Given the description of an element on the screen output the (x, y) to click on. 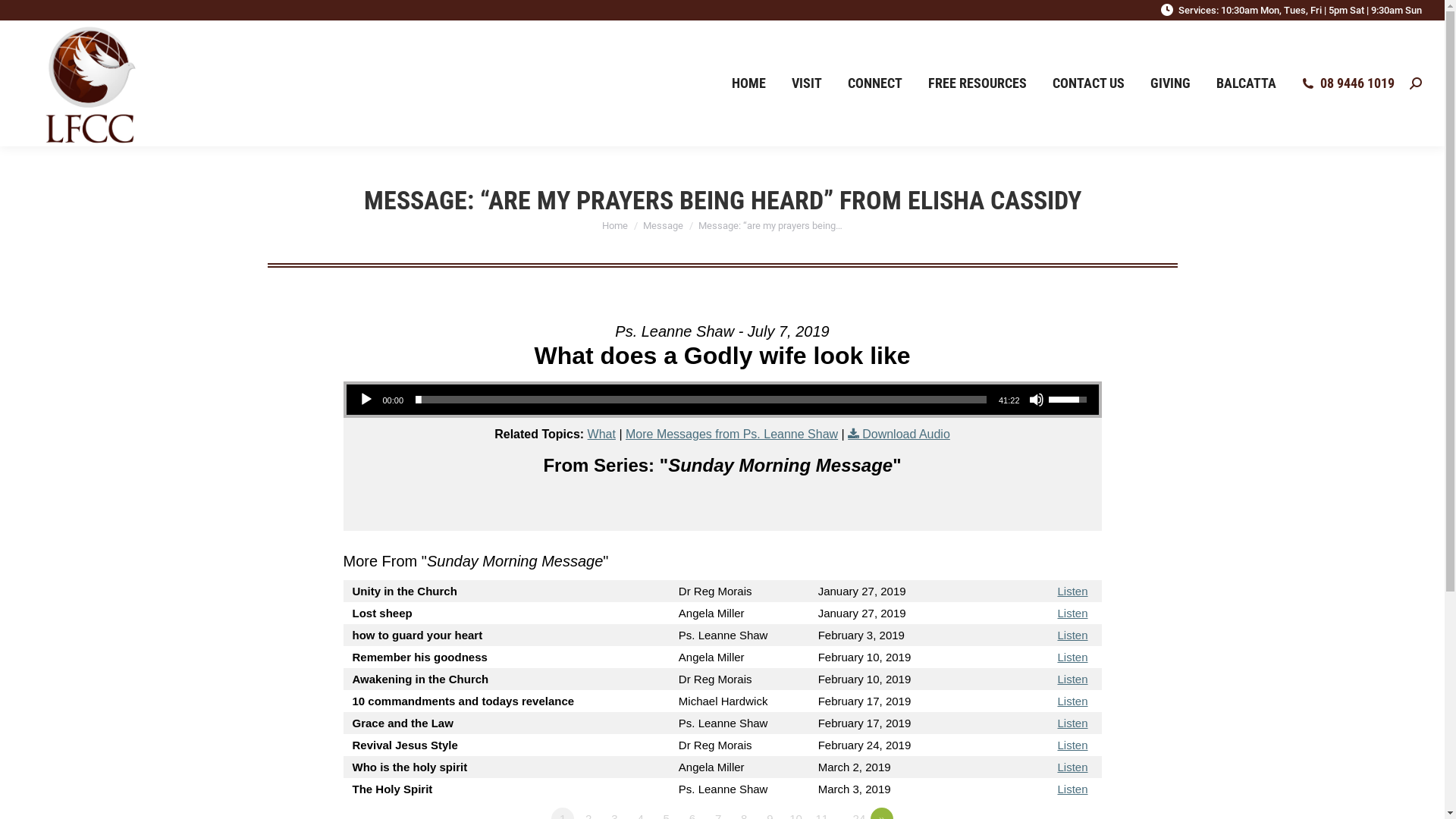
Listen Element type: text (1072, 634)
Listen Element type: text (1072, 744)
Listen Element type: text (1072, 656)
Listen Element type: text (1072, 700)
CONTACT US Element type: text (1088, 83)
Go! Element type: text (22, 17)
Play Element type: hover (365, 399)
Listen Element type: text (1072, 678)
Listen Element type: text (1072, 722)
Home Element type: text (614, 225)
Mute Element type: hover (1035, 399)
Listen Element type: text (1072, 788)
Message Element type: text (663, 225)
FREE RESOURCES Element type: text (977, 83)
Listen Element type: text (1072, 612)
Listen Element type: text (1072, 766)
CONNECT Element type: text (874, 83)
HOME Element type: text (748, 83)
Download Audio Element type: text (898, 433)
GIVING Element type: text (1170, 83)
Use Up/Down Arrow keys to increase or decrease volume. Element type: text (1069, 397)
BALCATTA Element type: text (1246, 83)
Listen Element type: text (1072, 590)
More Messages from Ps. Leanne Shaw Element type: text (731, 433)
What Element type: text (601, 433)
VISIT Element type: text (806, 83)
